Given the description of an element on the screen output the (x, y) to click on. 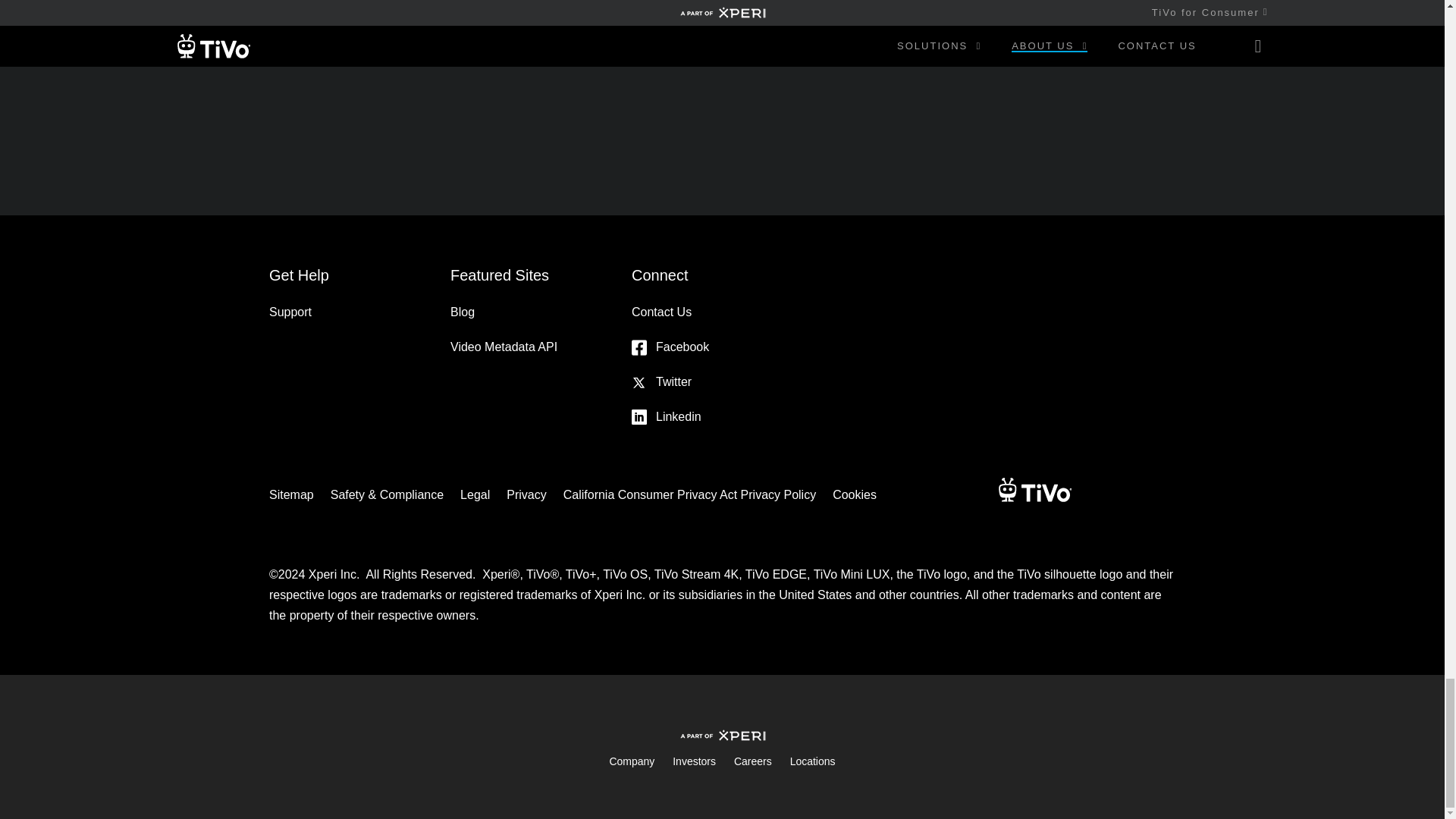
Video Metadata API (503, 338)
Facebook (670, 338)
Contact Us (661, 303)
Twitter (661, 373)
Linkedin (666, 408)
Support (290, 303)
